Given the description of an element on the screen output the (x, y) to click on. 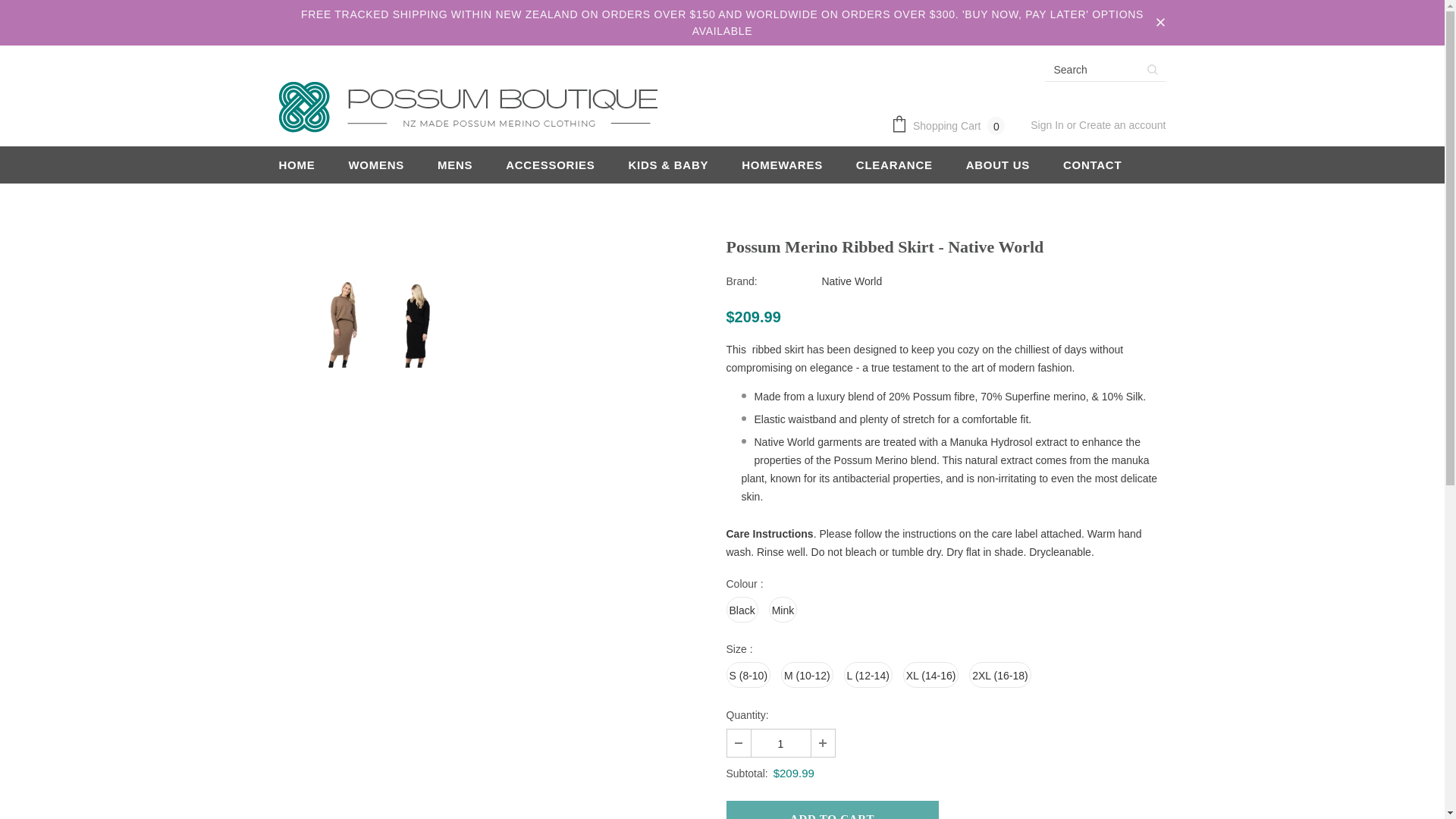
Add to cart (832, 809)
Cart (951, 126)
1 (780, 742)
Native World (851, 281)
MENS (454, 164)
CLEARANCE (894, 164)
Create an account (1122, 124)
Logo (468, 108)
CONTACT (1091, 164)
WOMENS (375, 164)
